Given the description of an element on the screen output the (x, y) to click on. 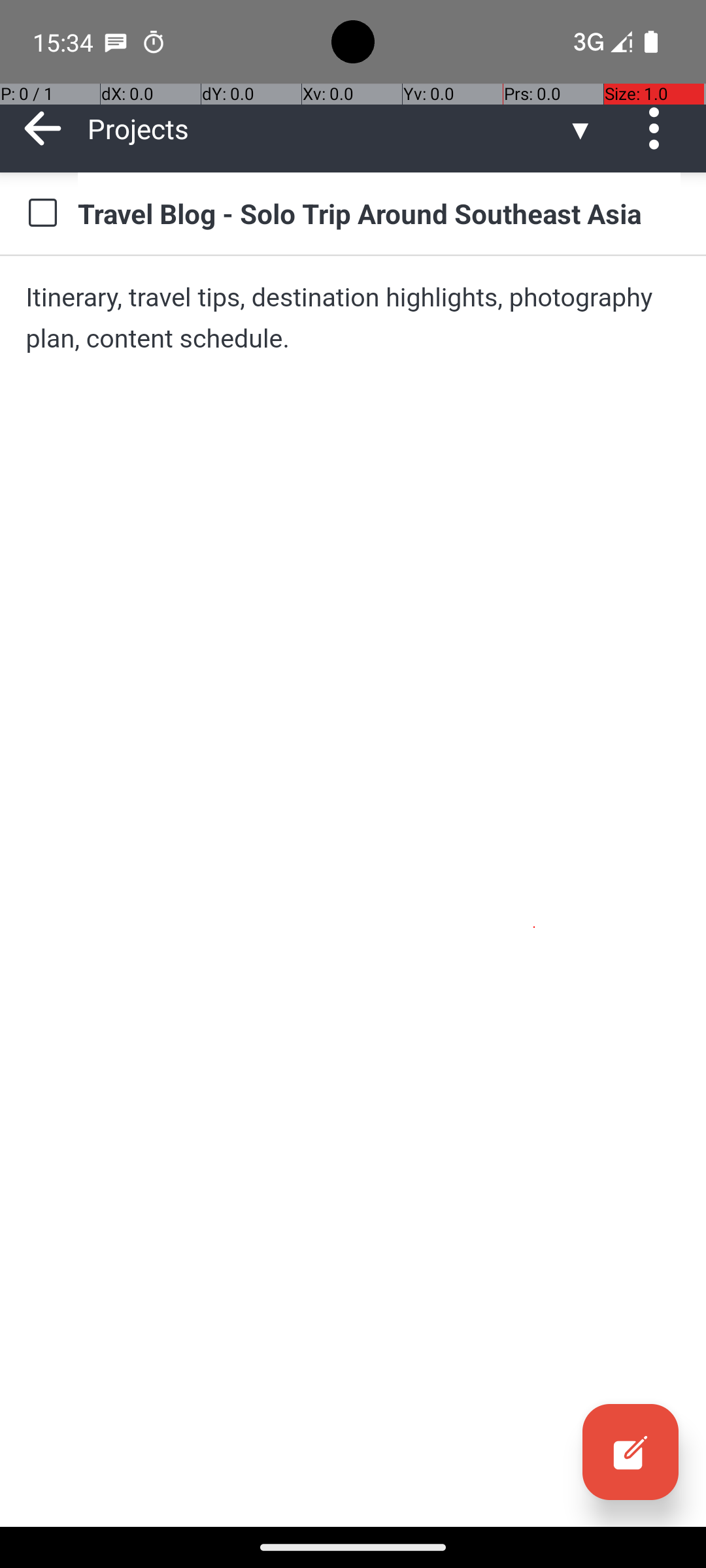
Travel Blog - Solo Trip Around Southeast Asia Element type: android.widget.EditText (378, 213)
Itinerary, travel tips, destination highlights, photography plan, content schedule. Element type: android.widget.TextView (352, 317)
